Given the description of an element on the screen output the (x, y) to click on. 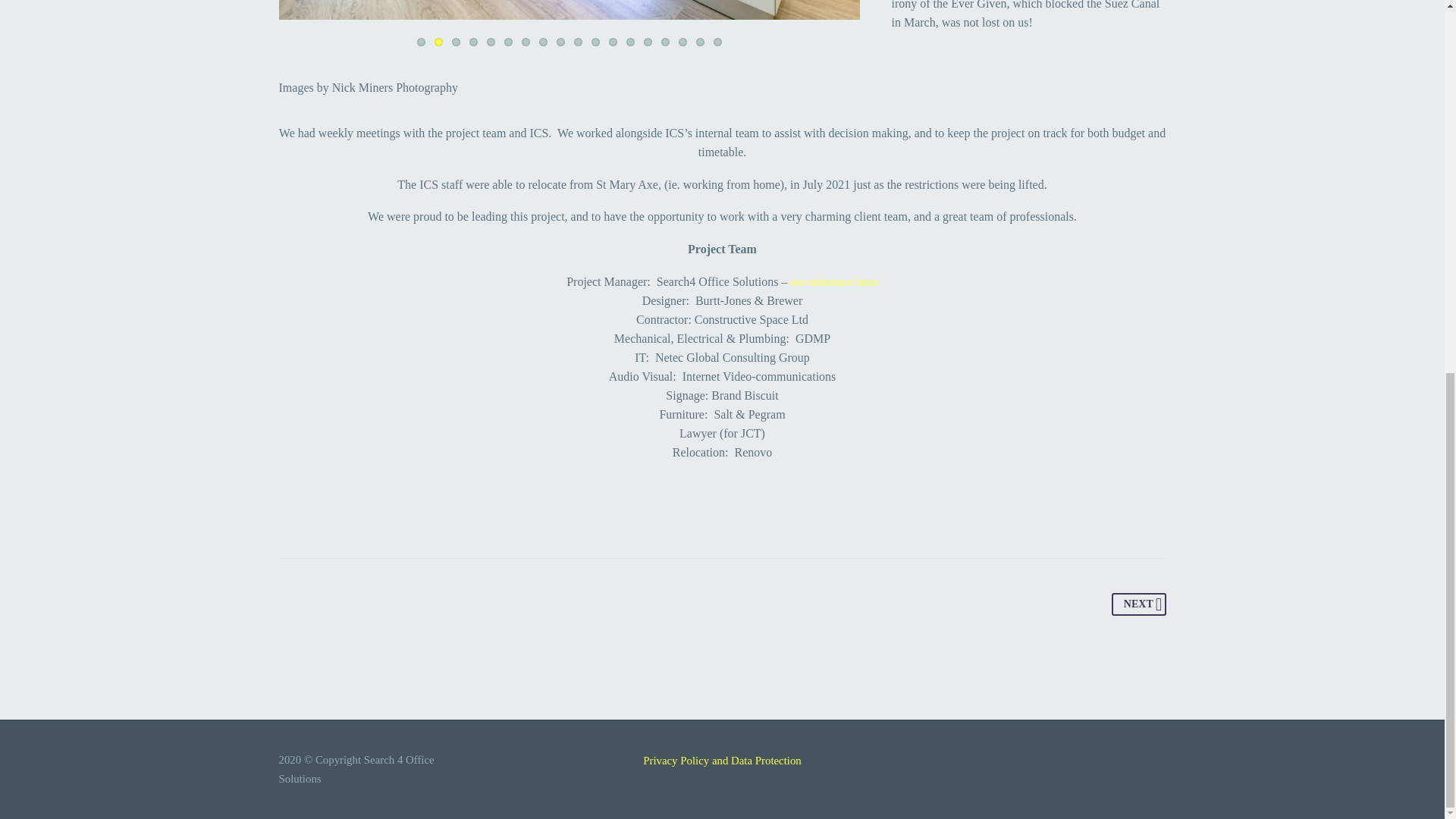
2 (437, 41)
8 (542, 41)
5 (490, 41)
7 (525, 41)
1 (420, 41)
3 (455, 41)
4 (472, 41)
9 (560, 41)
6 (507, 41)
